Given the description of an element on the screen output the (x, y) to click on. 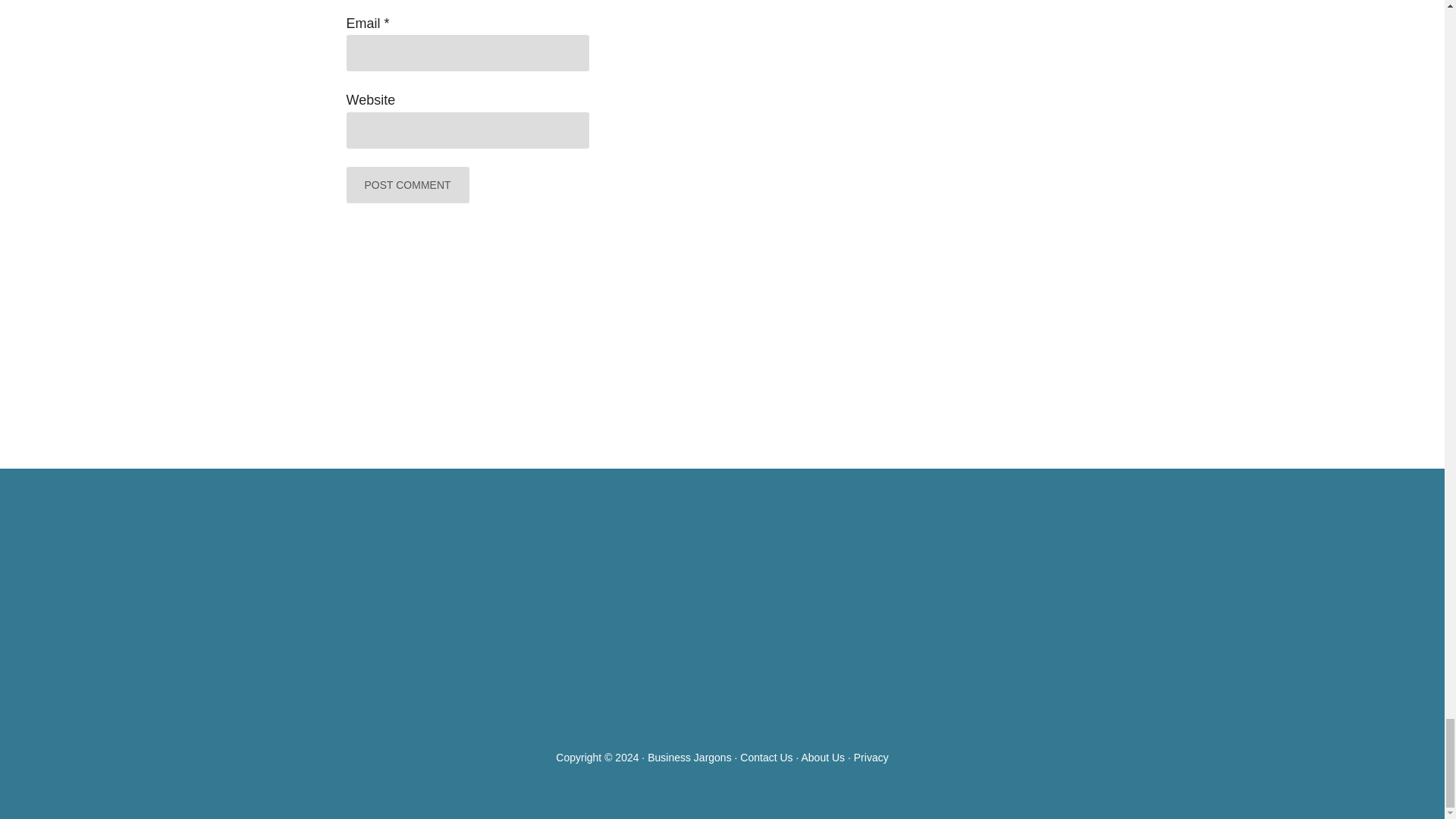
Privacy (870, 757)
Contact Us (765, 757)
About Us (822, 757)
Post Comment (407, 185)
Post Comment (407, 185)
